Given the description of an element on the screen output the (x, y) to click on. 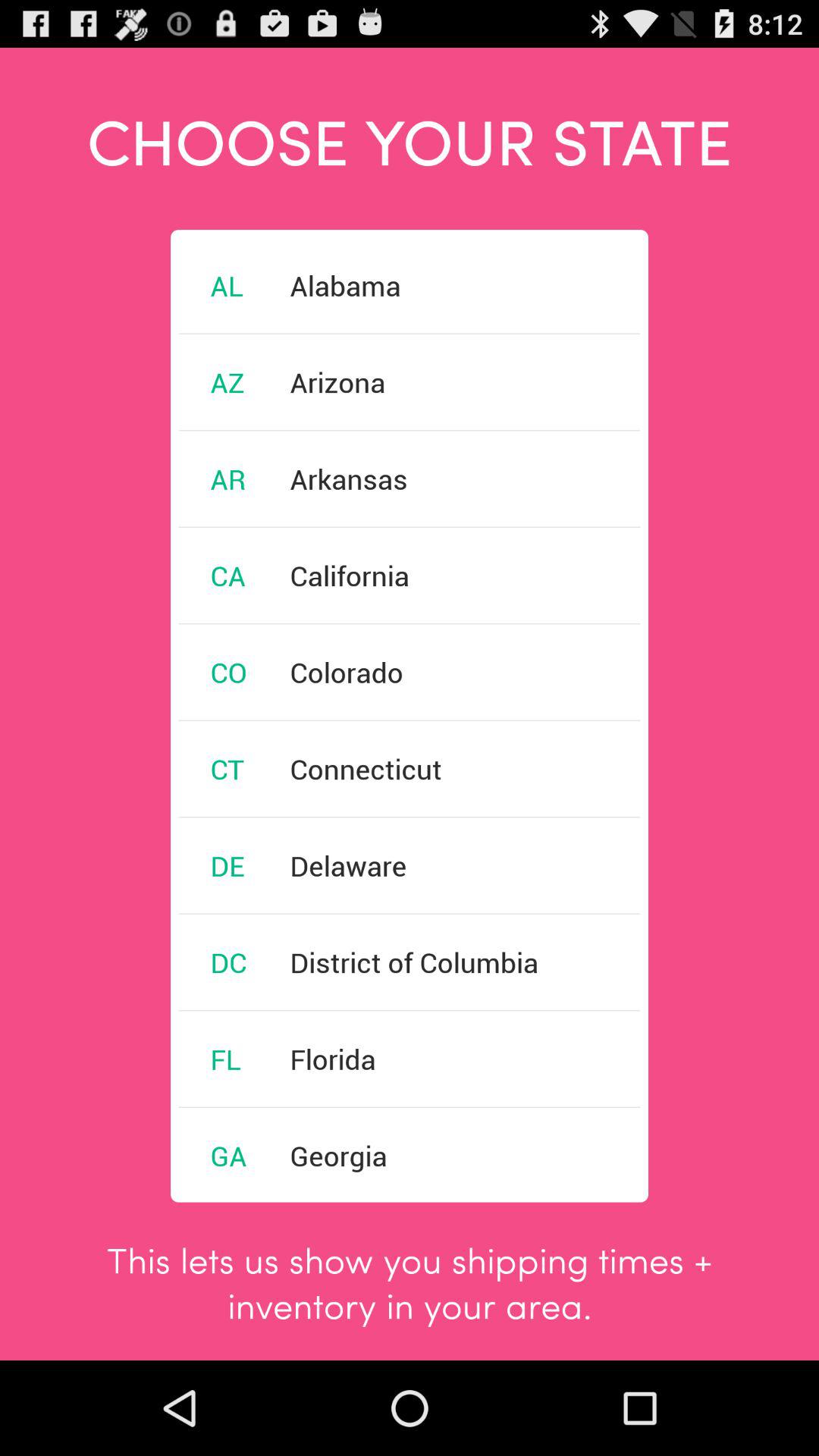
launch the item below the alabama (337, 381)
